Given the description of an element on the screen output the (x, y) to click on. 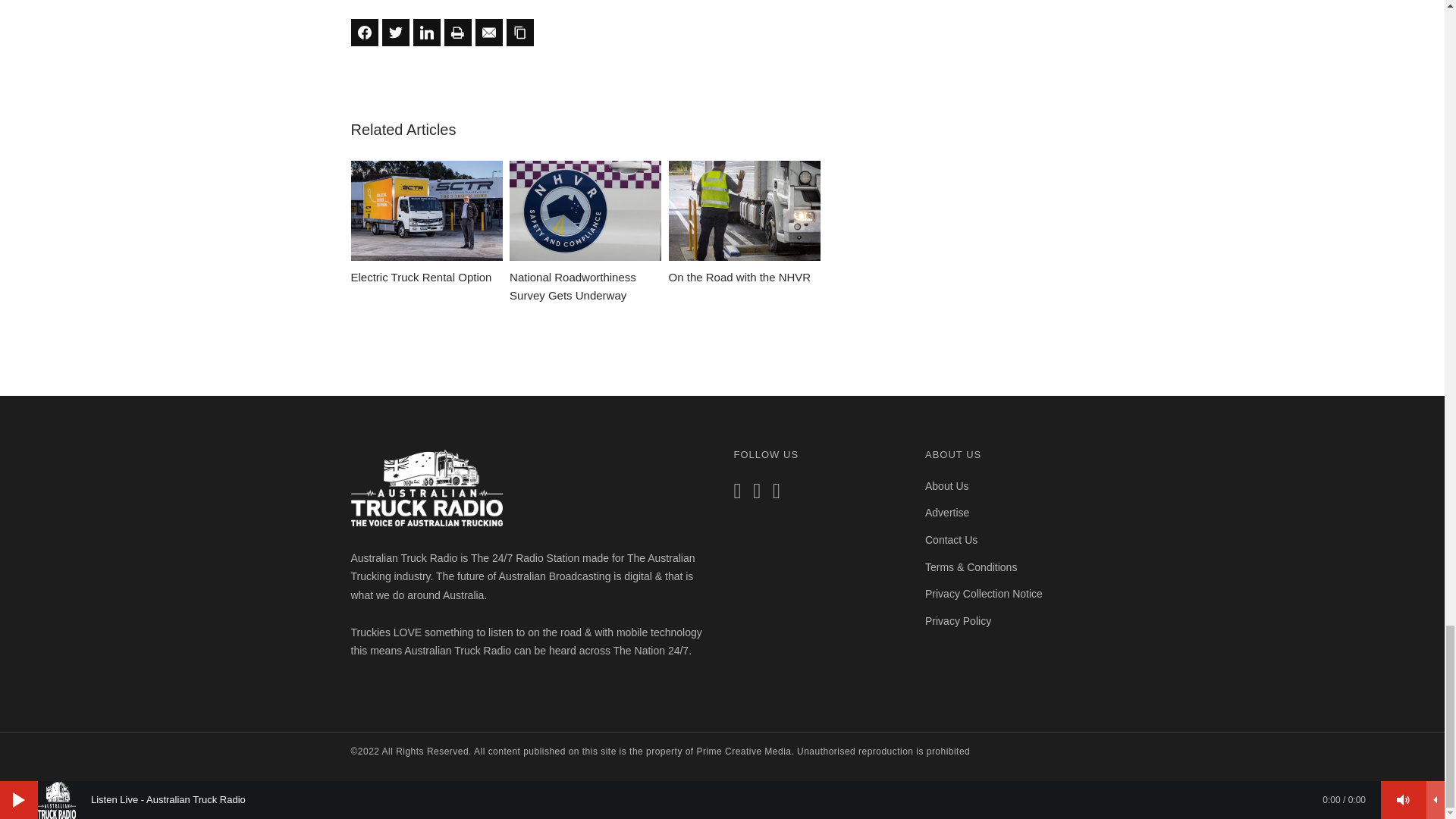
Share on Twitter (395, 31)
Share on Facebook (363, 31)
Share on LinkedIn (425, 31)
Share on Print (457, 31)
